Given the description of an element on the screen output the (x, y) to click on. 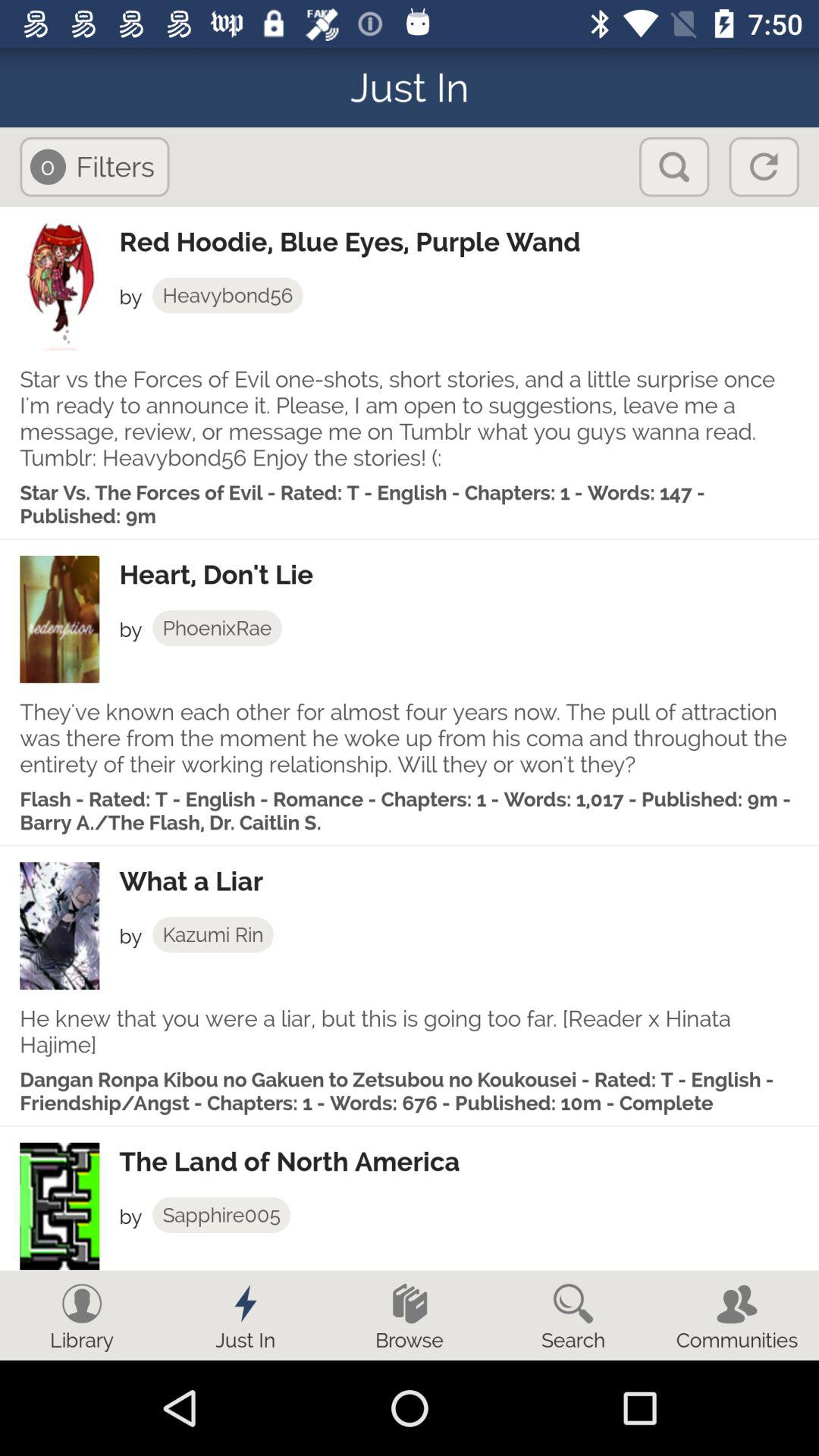
press the icon above the dangan ronpa kibou (409, 1031)
